Given the description of an element on the screen output the (x, y) to click on. 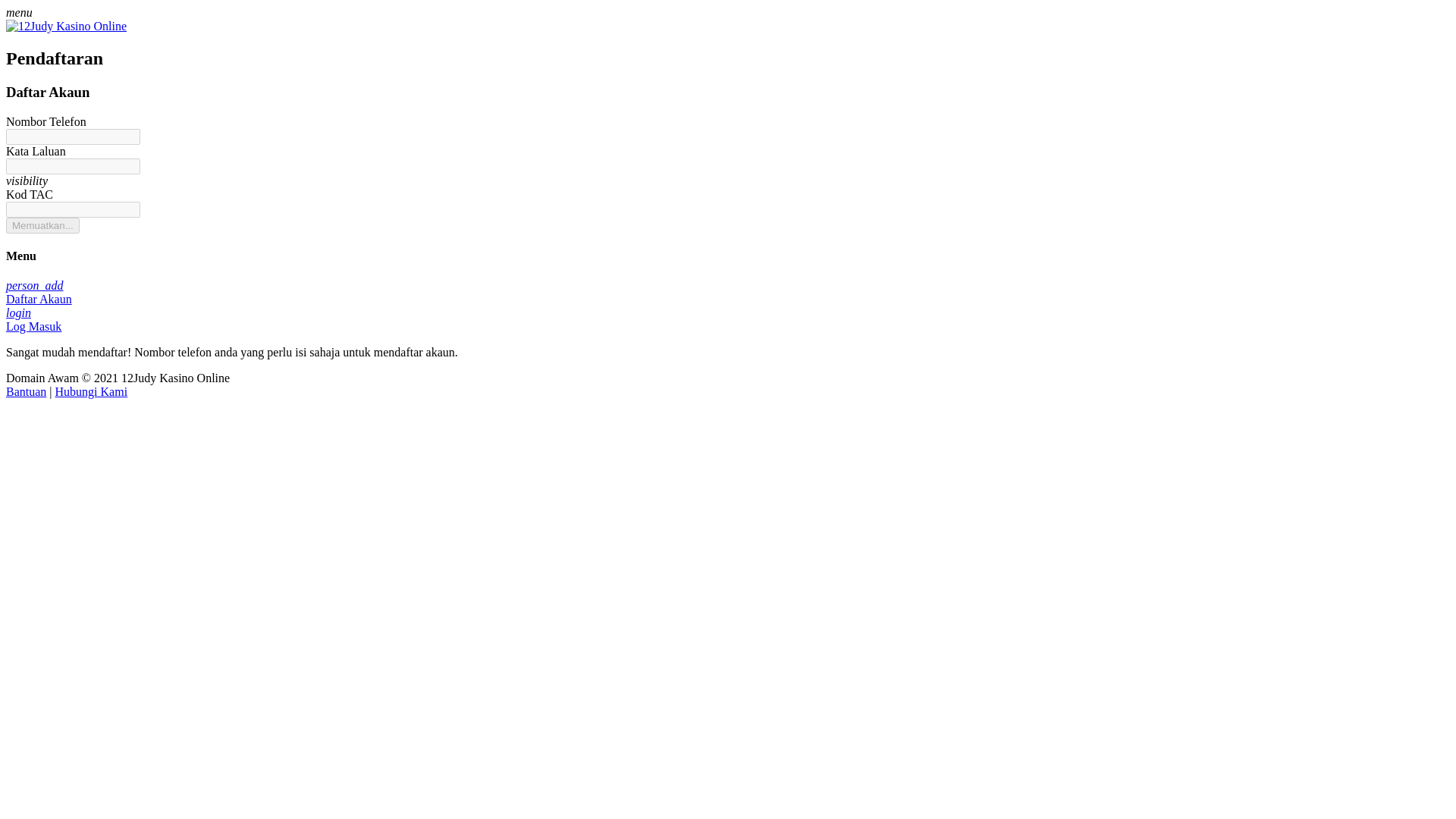
visibility Element type: text (727, 181)
login
Log Masuk Element type: text (727, 319)
person_add
Daftar Akaun Element type: text (727, 292)
Hubungi Kami Element type: text (91, 391)
Bantuan Element type: text (26, 391)
menu Element type: text (727, 12)
Memuatkan... Element type: text (42, 225)
